Given the description of an element on the screen output the (x, y) to click on. 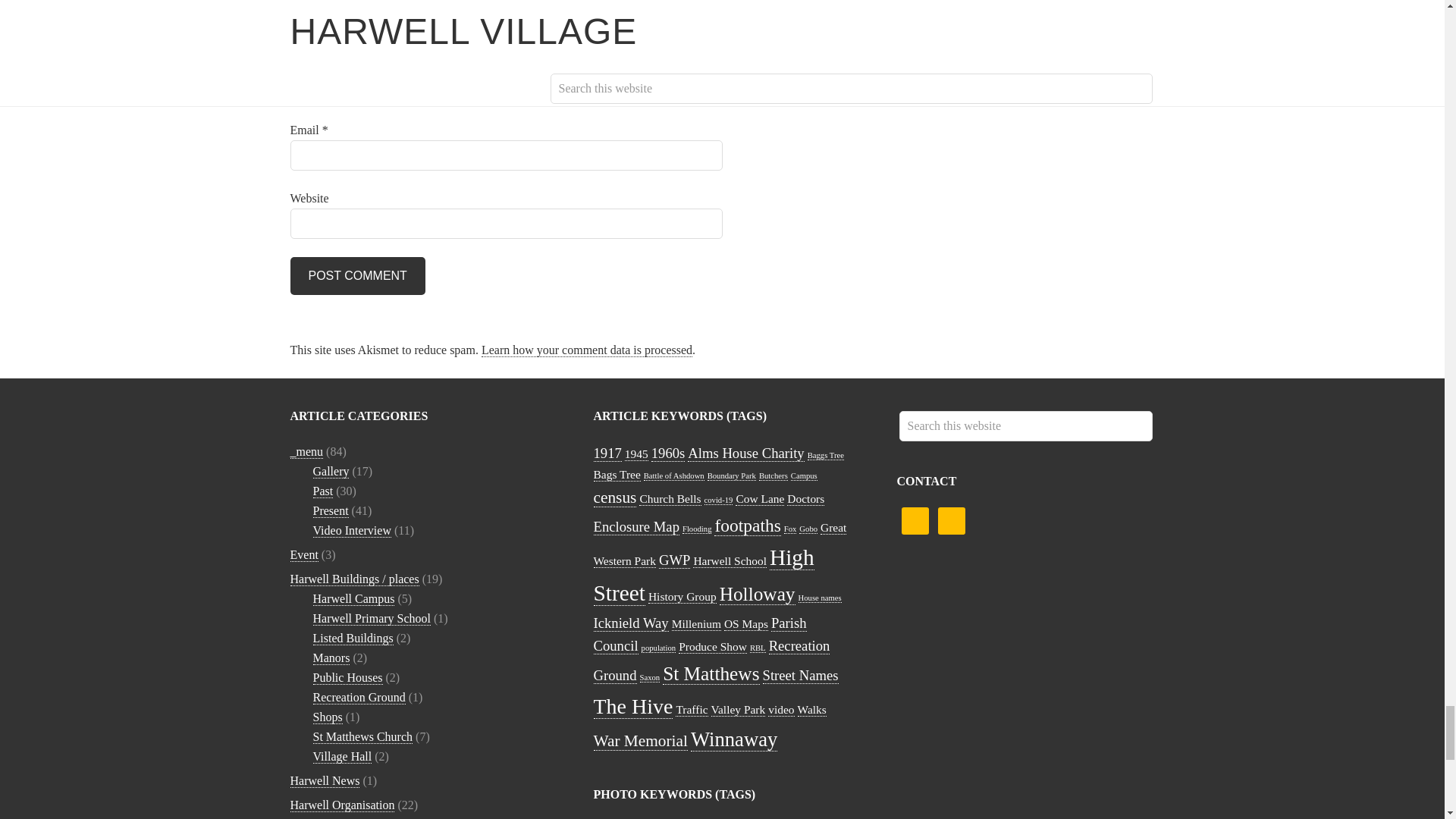
Post Comment (357, 275)
